Given the description of an element on the screen output the (x, y) to click on. 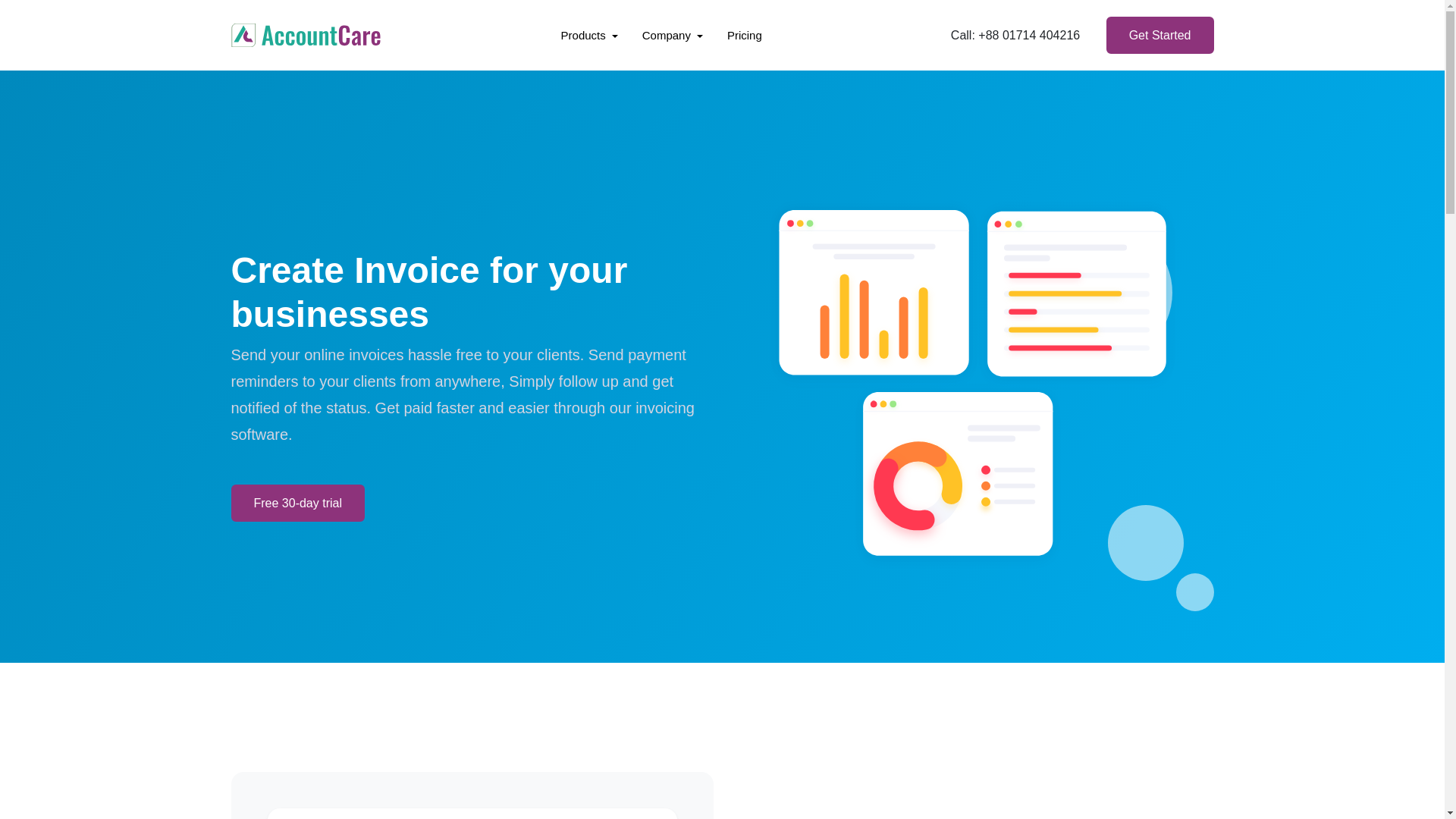
Company (672, 35)
Free 30-day trial (297, 502)
Products (589, 35)
Get Started (1160, 35)
Pricing (744, 35)
